Given the description of an element on the screen output the (x, y) to click on. 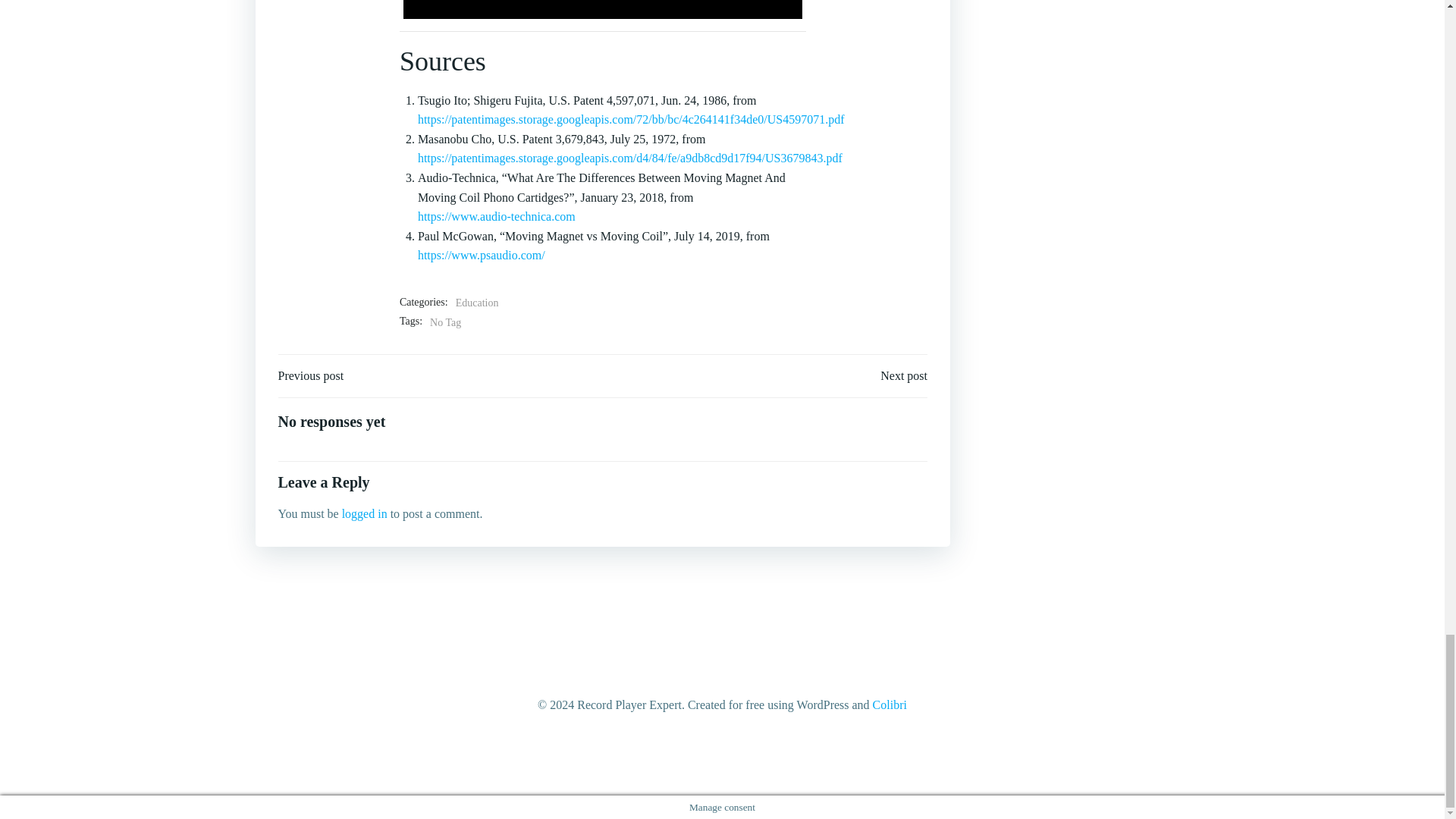
Colibri (889, 704)
Education (477, 303)
Previous post (310, 375)
Next post (903, 375)
logged in (364, 513)
